Given the description of an element on the screen output the (x, y) to click on. 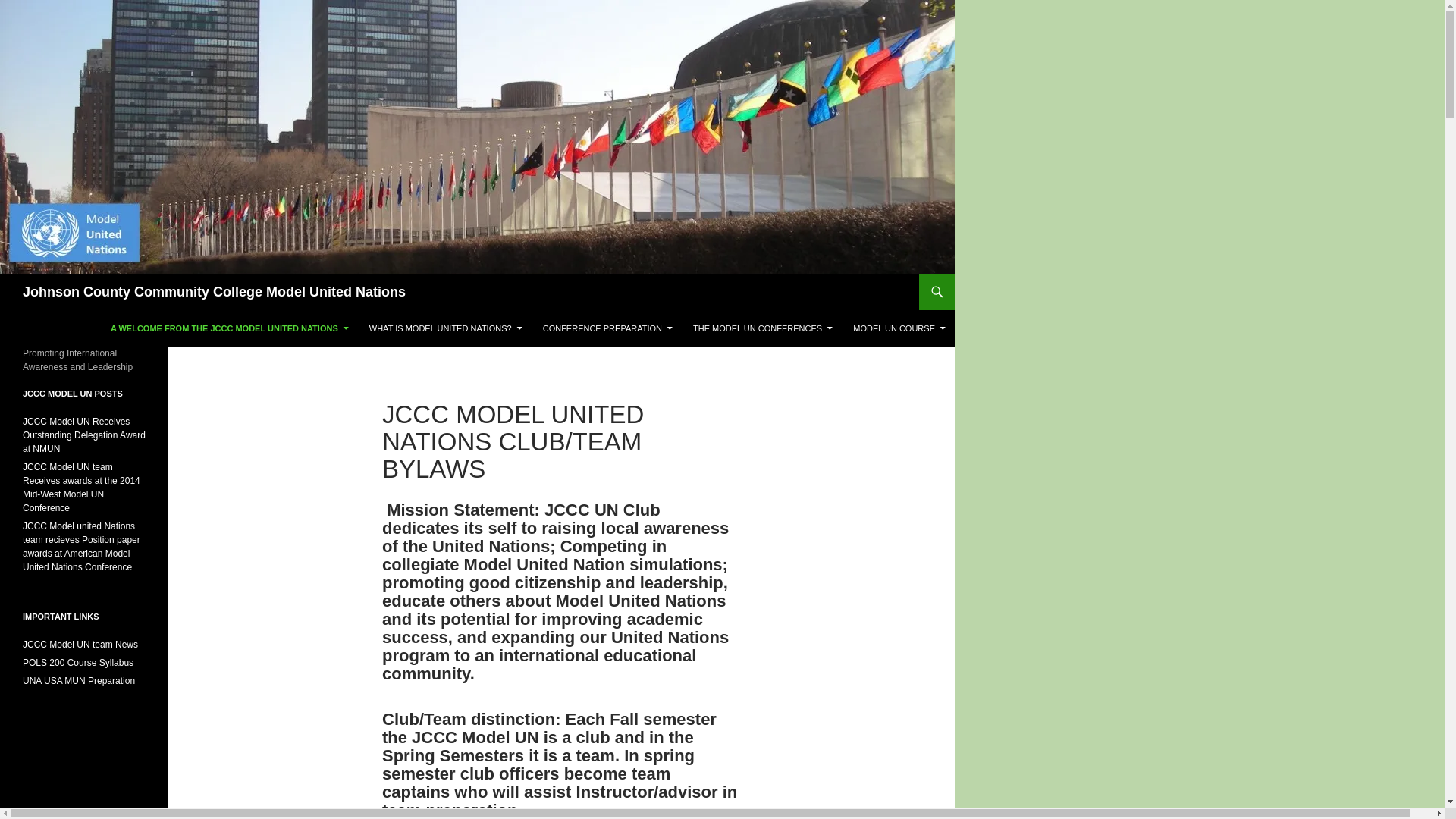
CONFERENCE PREPARATION (607, 328)
WHAT IS MODEL UNITED NATIONS? (445, 328)
Johnson County Community College Model United Nations (214, 291)
THE MODEL UN CONFERENCES (762, 328)
A WELCOME FROM THE JCCC MODEL UNITED NATIONS (229, 328)
MODEL UN COURSE (899, 328)
